Given the description of an element on the screen output the (x, y) to click on. 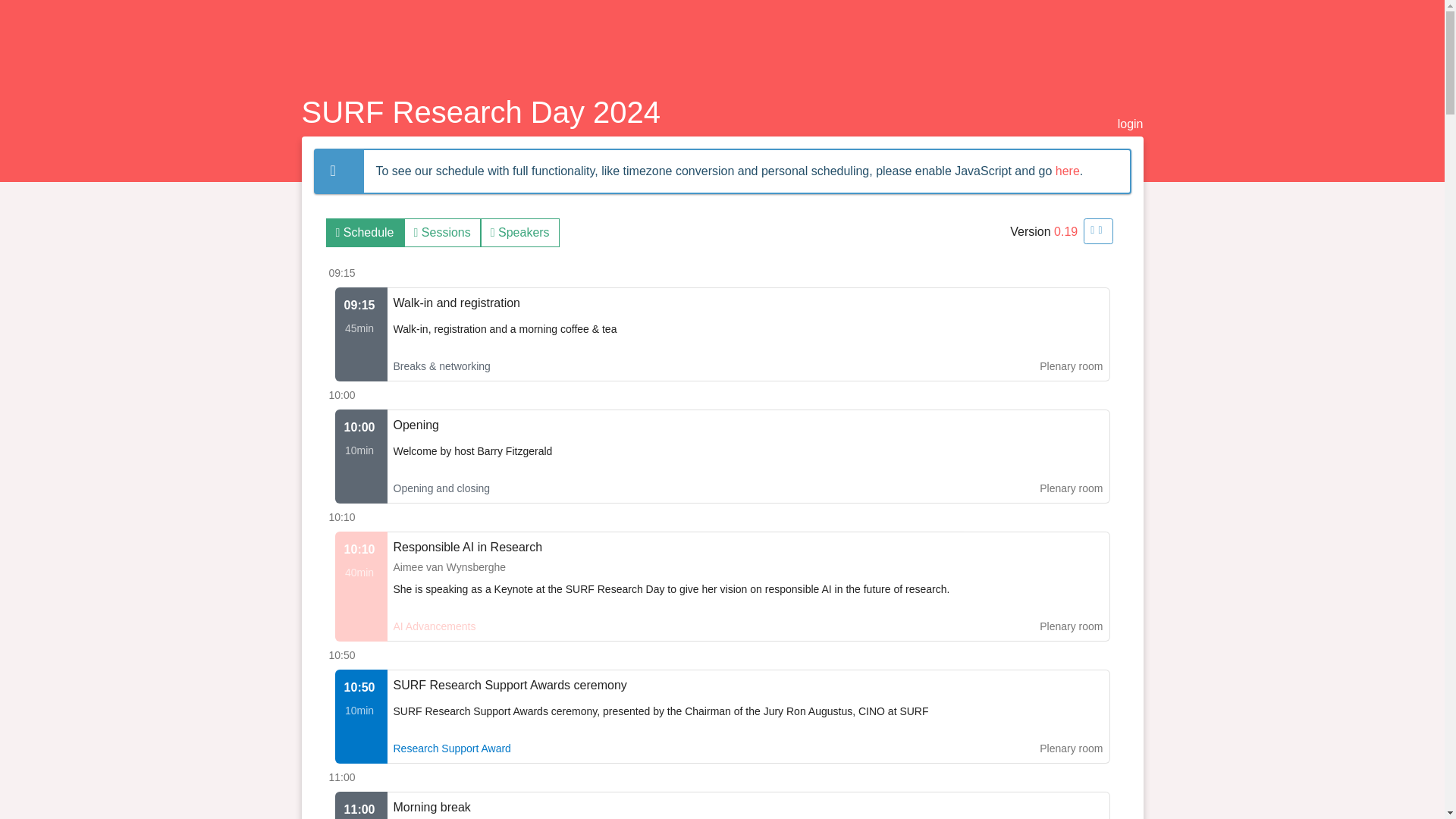
login (1130, 124)
Schedule (365, 232)
Sessions (442, 232)
here (1067, 170)
Speakers (519, 232)
0.19 (1065, 231)
SURF Research Day 2024 (481, 111)
